Given the description of an element on the screen output the (x, y) to click on. 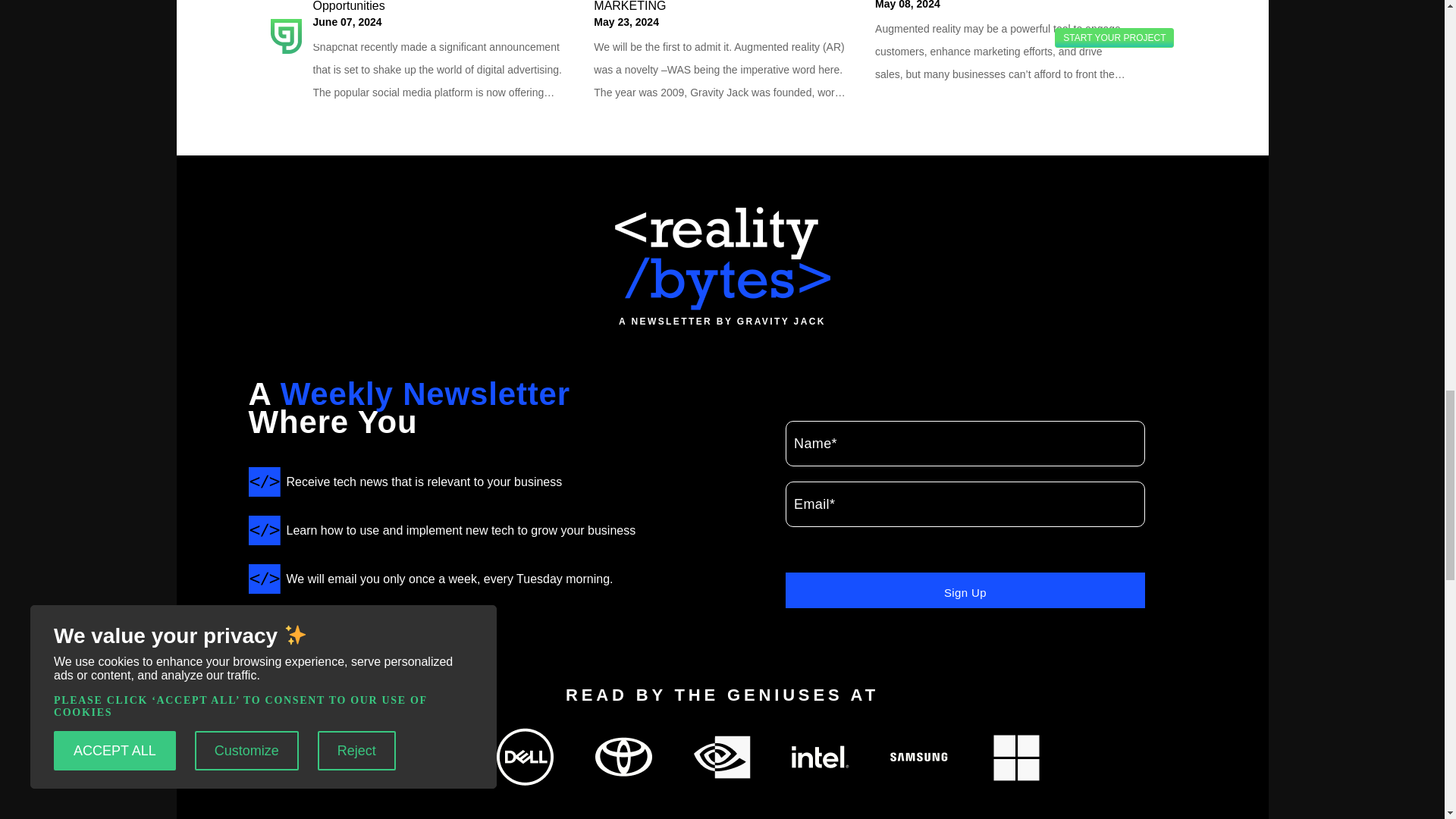
Sign Up (965, 590)
